Given the description of an element on the screen output the (x, y) to click on. 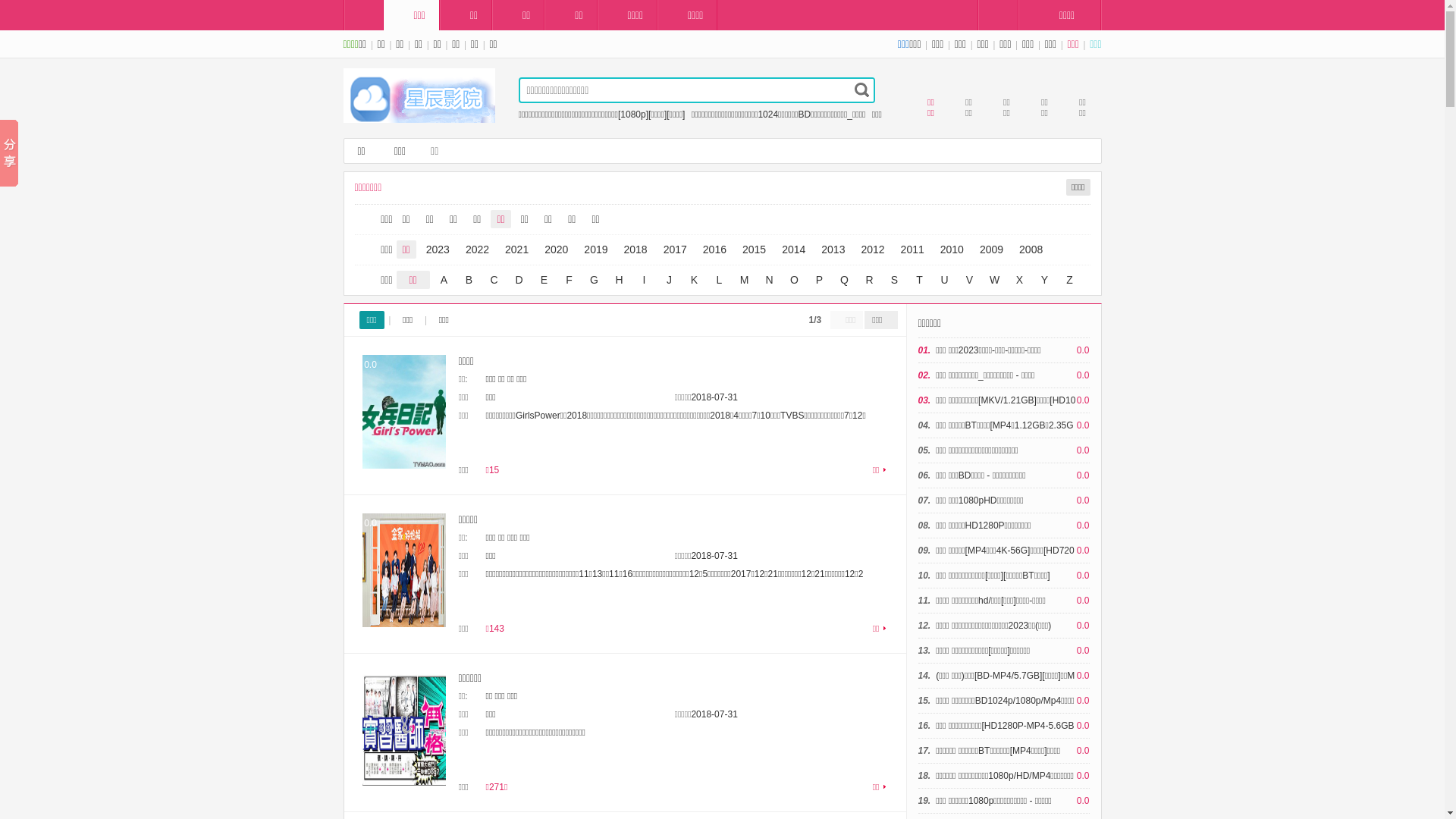
B Element type: text (468, 279)
G Element type: text (594, 279)
J Element type: text (668, 279)
P Element type: text (818, 279)
C Element type: text (494, 279)
2010 Element type: text (951, 249)
2011 Element type: text (912, 249)
2012 Element type: text (872, 249)
2015 Element type: text (753, 249)
Q Element type: text (844, 279)
2014 Element type: text (793, 249)
2013 Element type: text (832, 249)
X Element type: text (1018, 279)
2016 Element type: text (714, 249)
U Element type: text (944, 279)
I Element type: text (644, 279)
2017 Element type: text (675, 249)
O Element type: text (794, 279)
F Element type: text (568, 279)
L Element type: text (718, 279)
S Element type: text (894, 279)
2018 Element type: text (635, 249)
N Element type: text (768, 279)
V Element type: text (968, 279)
Z Element type: text (1068, 279)
H Element type: text (618, 279)
2019 Element type: text (595, 249)
K Element type: text (694, 279)
0.0 Element type: text (403, 570)
2023 Element type: text (437, 249)
2021 Element type: text (516, 249)
2020 Element type: text (556, 249)
2009 Element type: text (991, 249)
T Element type: text (918, 279)
0.0 Element type: text (403, 411)
D Element type: text (518, 279)
W Element type: text (994, 279)
E Element type: text (544, 279)
0.0 Element type: text (403, 728)
Y Element type: text (1044, 279)
R Element type: text (868, 279)
2008 Element type: text (1030, 249)
M Element type: text (744, 279)
A Element type: text (444, 279)
2022 Element type: text (477, 249)
